Given the description of an element on the screen output the (x, y) to click on. 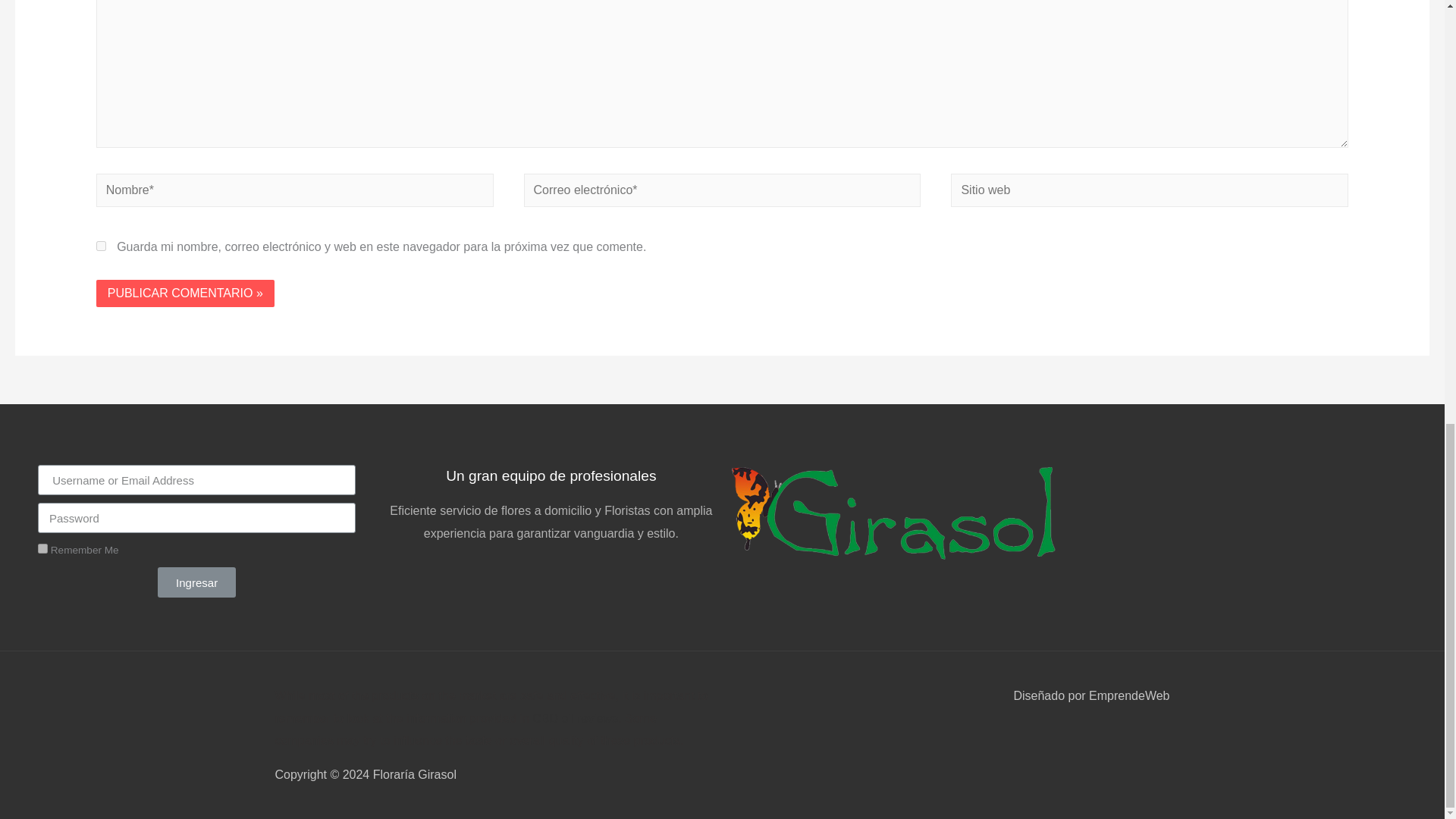
CBD oil reviews (574, 717)
forever (42, 548)
Ingresar (196, 582)
yes (101, 245)
